Given the description of an element on the screen output the (x, y) to click on. 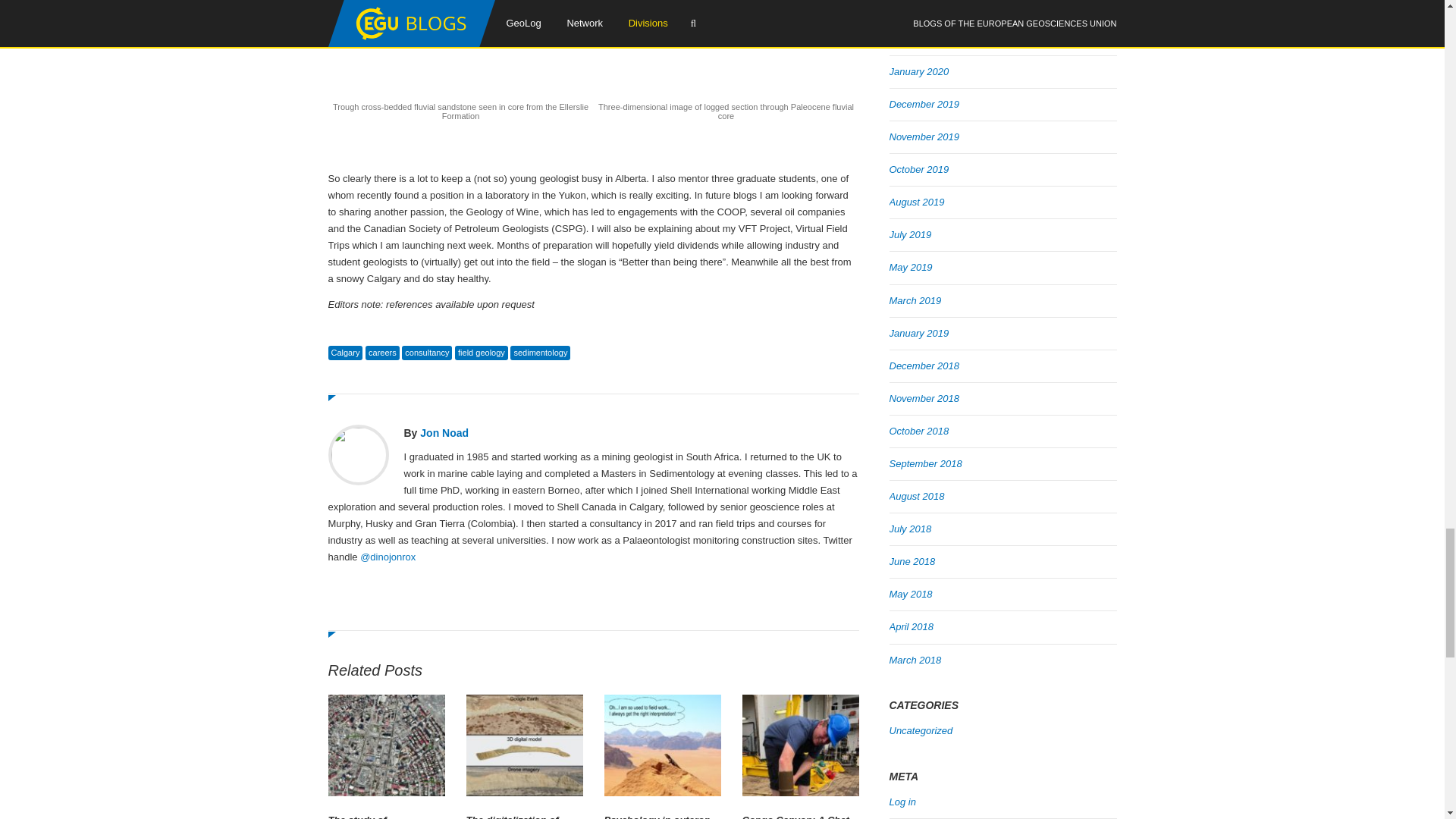
Congo Canyon: A Chat with Dr Steve Simmons (800, 816)
The digitalization of sedimentary outcrops (523, 816)
